Given the description of an element on the screen output the (x, y) to click on. 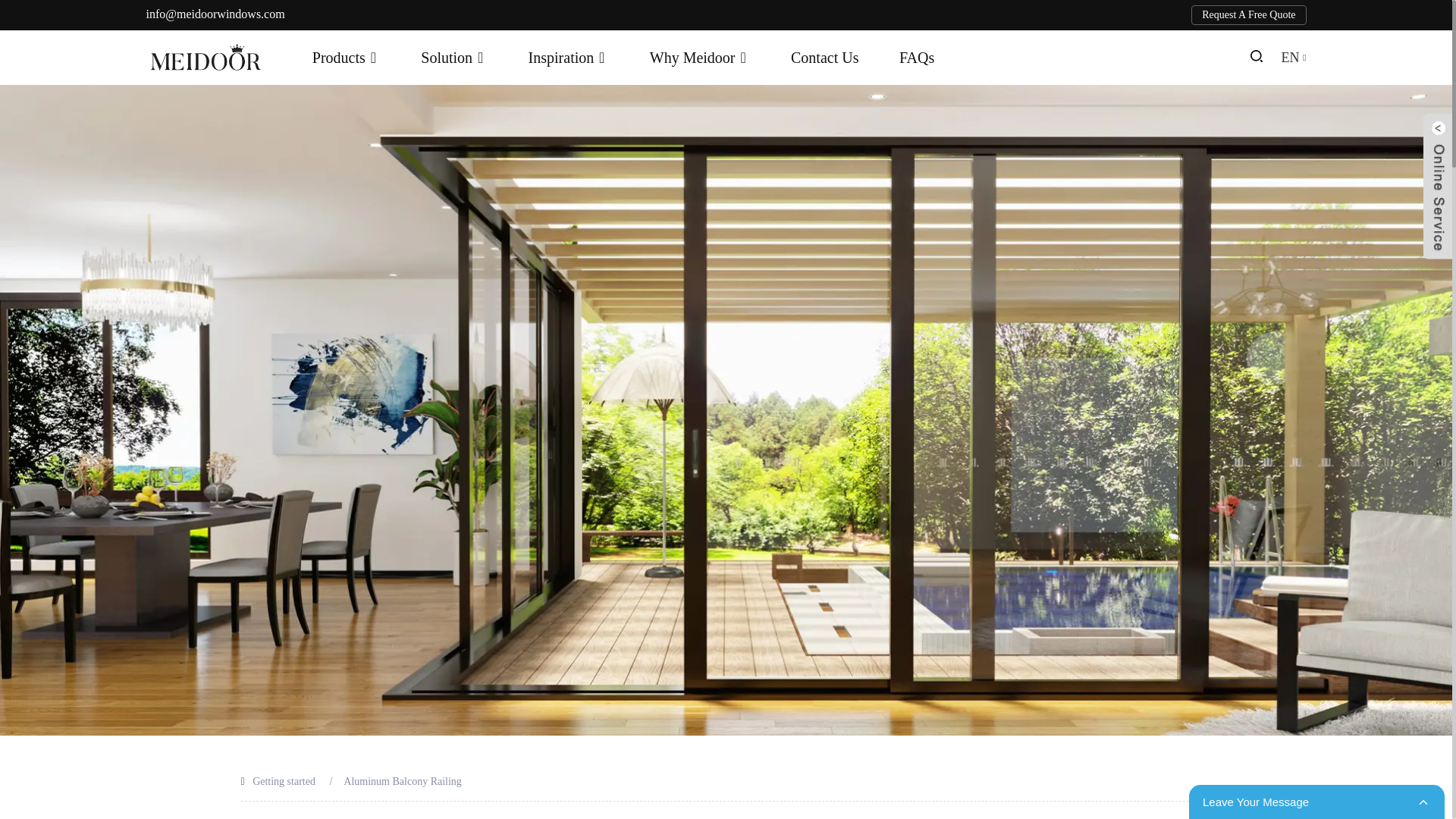
English (1293, 57)
Inspiration (569, 57)
Solution (453, 57)
Products (346, 57)
